Given the description of an element on the screen output the (x, y) to click on. 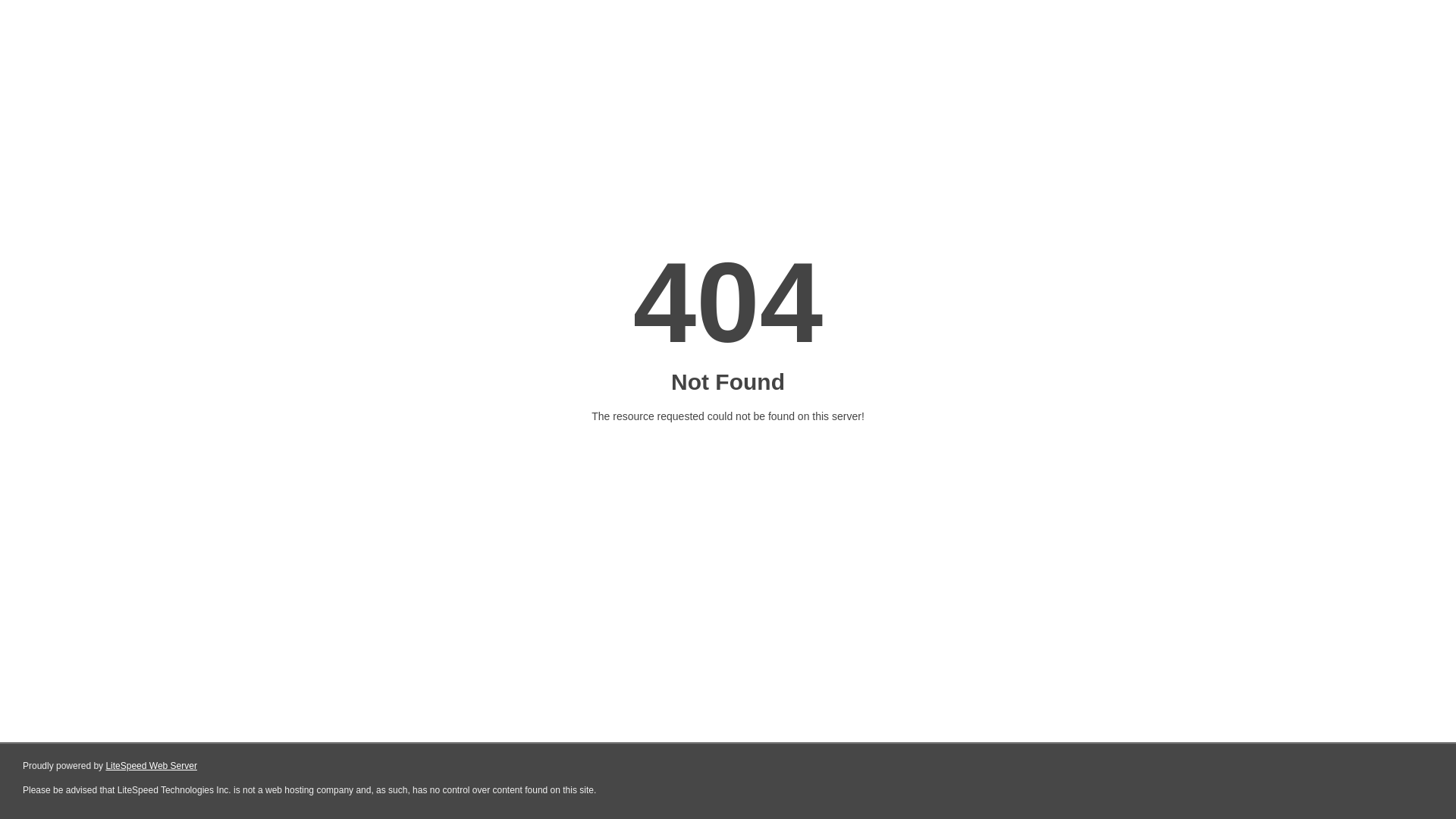
LiteSpeed Web Server Element type: text (151, 765)
